Given the description of an element on the screen output the (x, y) to click on. 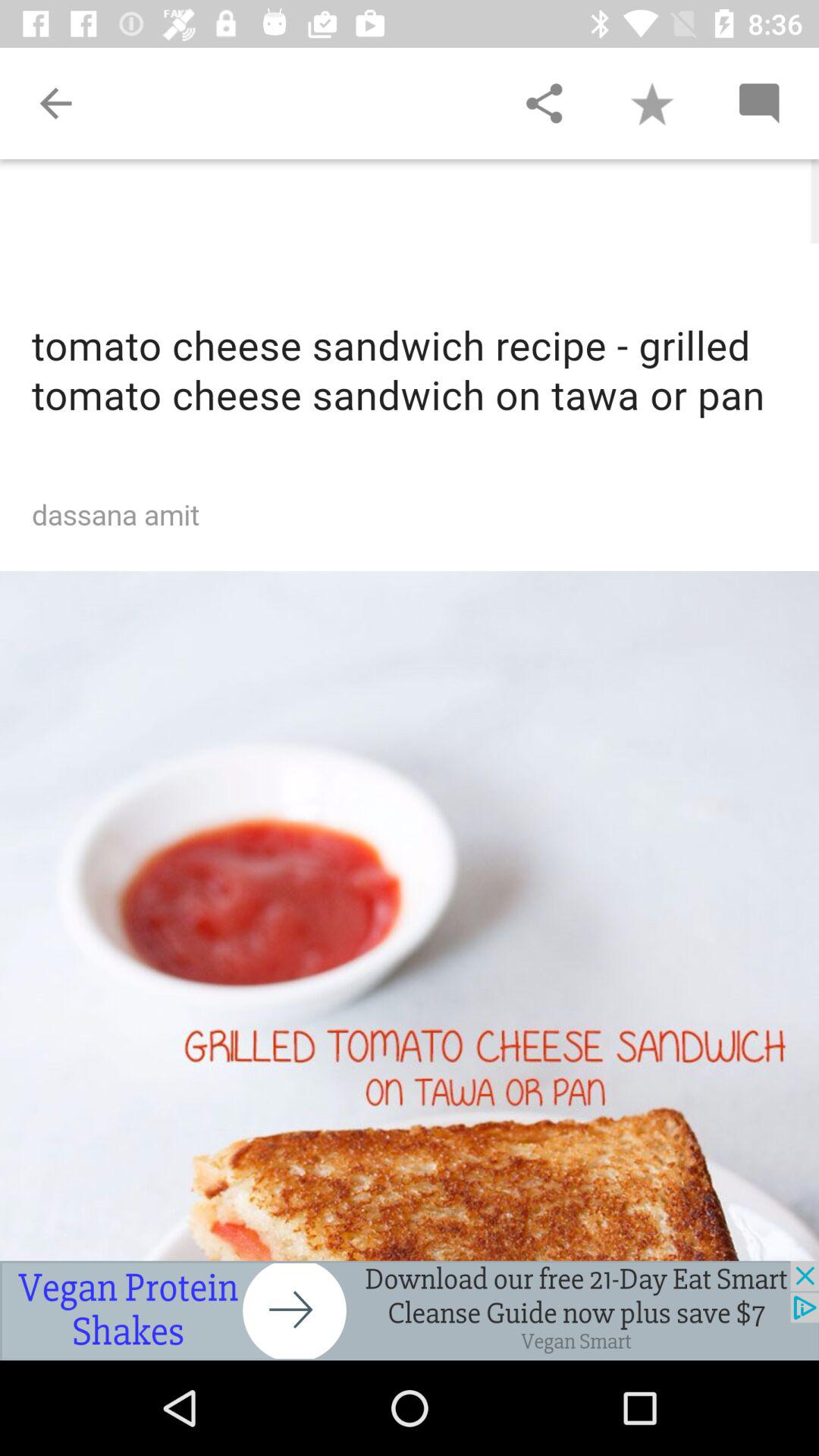
advertisement (409, 1310)
